Given the description of an element on the screen output the (x, y) to click on. 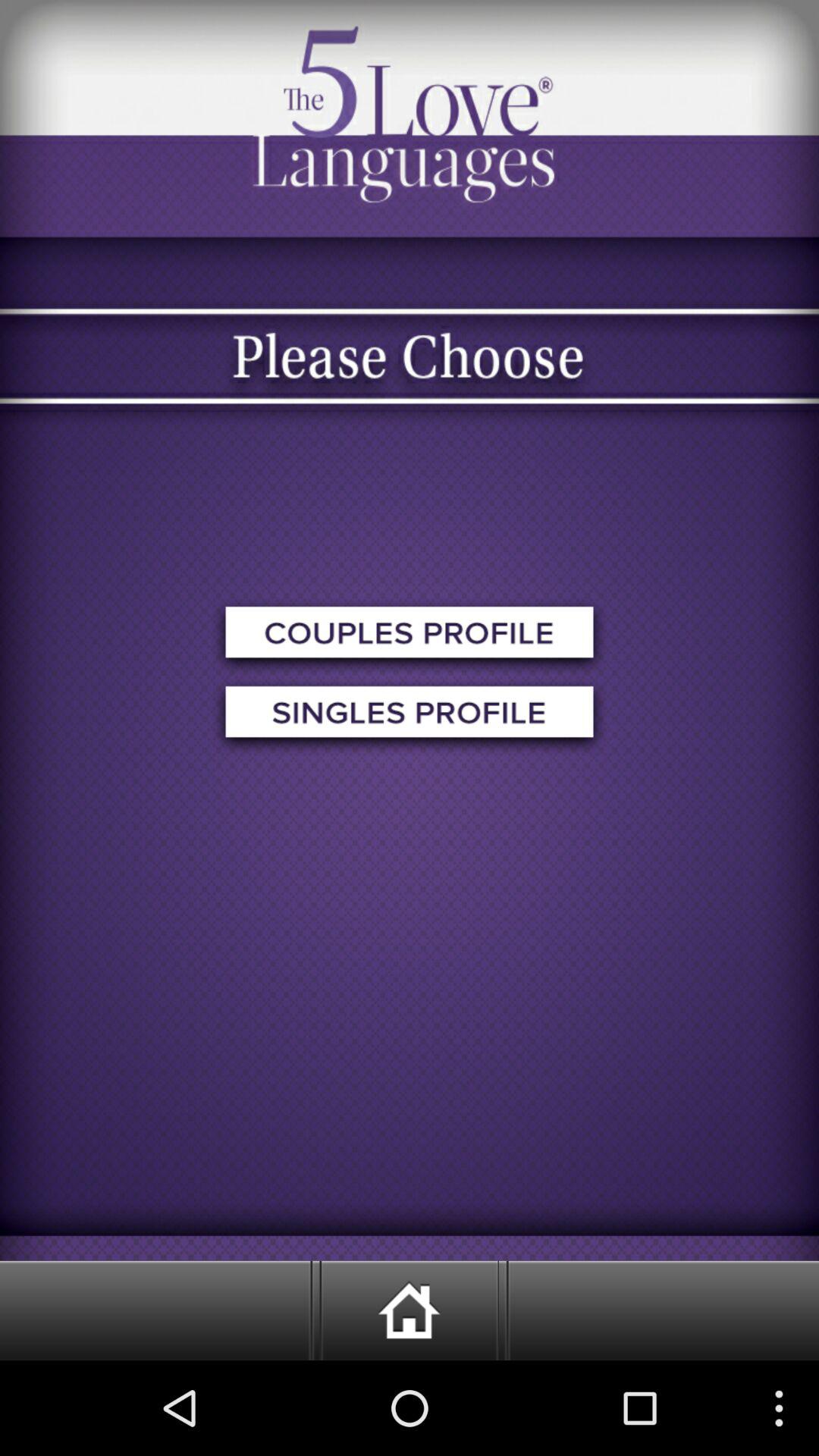
share the article (409, 636)
